Given the description of an element on the screen output the (x, y) to click on. 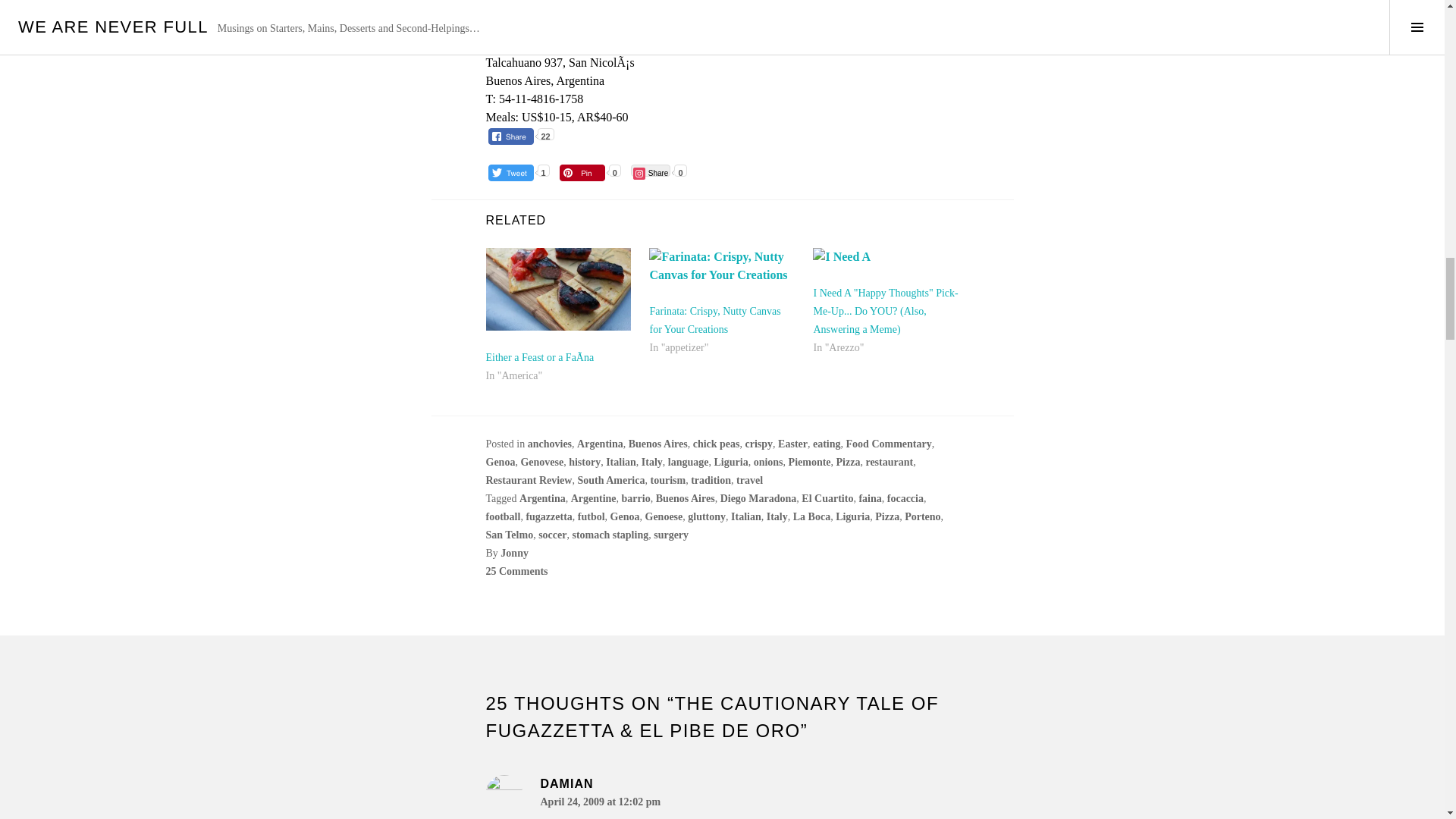
history (584, 461)
Genovese (541, 461)
Pizza (847, 461)
Food Commentary (888, 443)
Argentina (599, 443)
Restaurant Review (528, 480)
Buenos Aires (657, 443)
onions (768, 461)
restaurant (888, 461)
Piemonte (810, 461)
Farinata: Crispy, Nutty Canvas for Your Creations (714, 319)
Italian (620, 461)
anchovies (549, 443)
Italy (652, 461)
Liguria (731, 461)
